Given the description of an element on the screen output the (x, y) to click on. 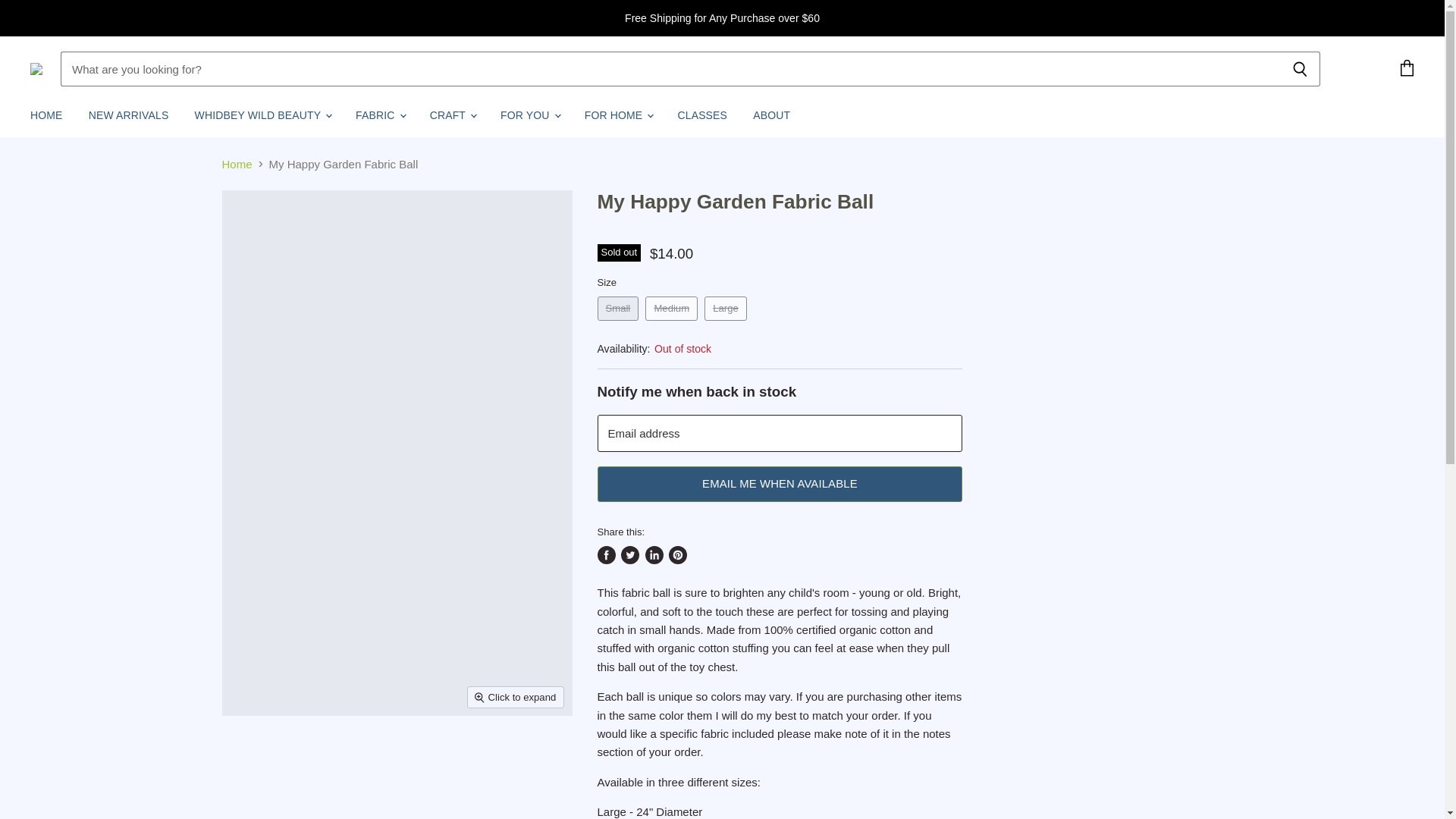
WHIDBEY WILD BEAUTY (261, 115)
CRAFT (452, 115)
FABRIC (378, 115)
NEW ARRIVALS (128, 115)
HOME (46, 115)
FOR YOU (529, 115)
